Given the description of an element on the screen output the (x, y) to click on. 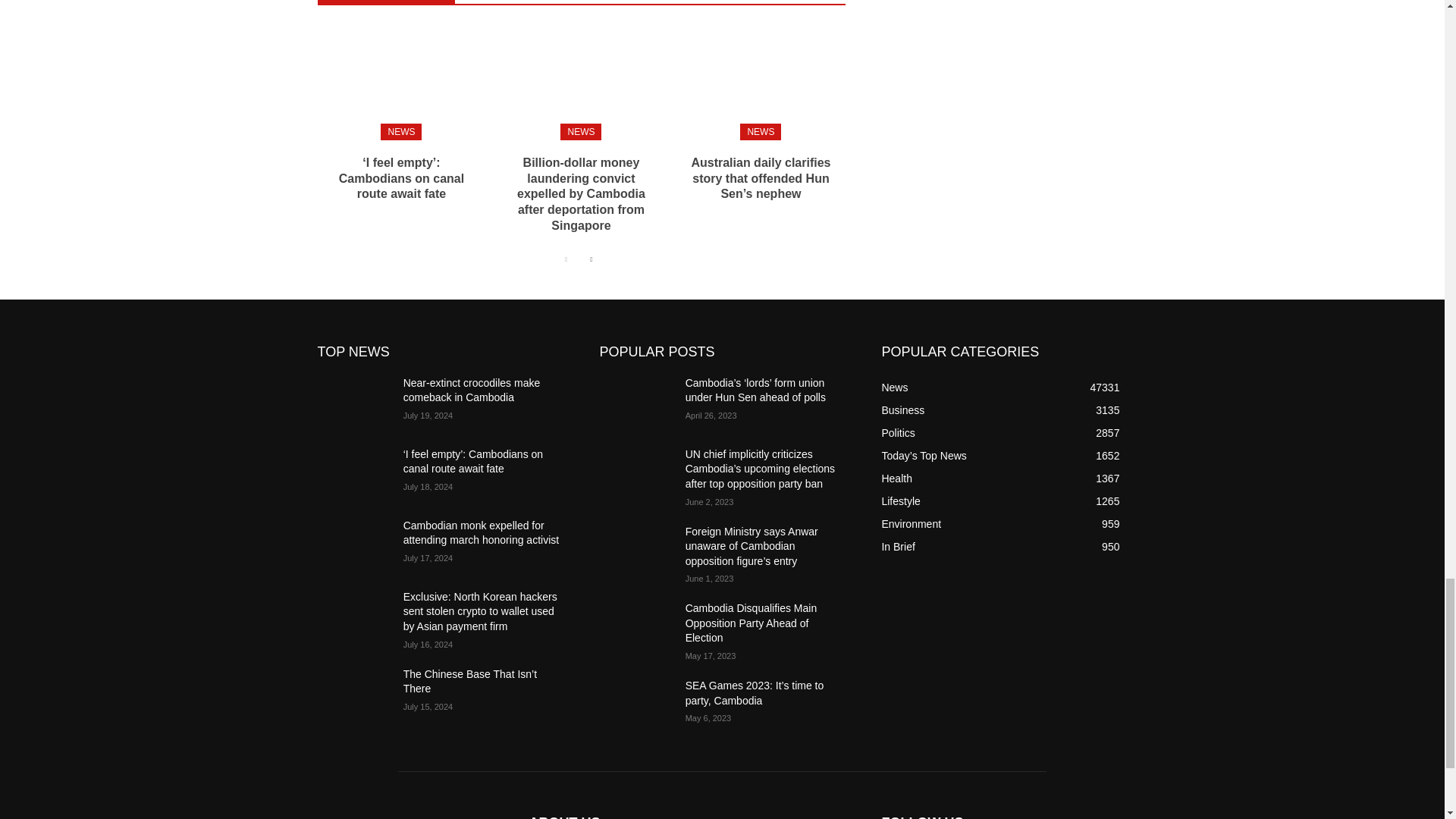
NEWS (580, 131)
NEWS (401, 131)
